Given the description of an element on the screen output the (x, y) to click on. 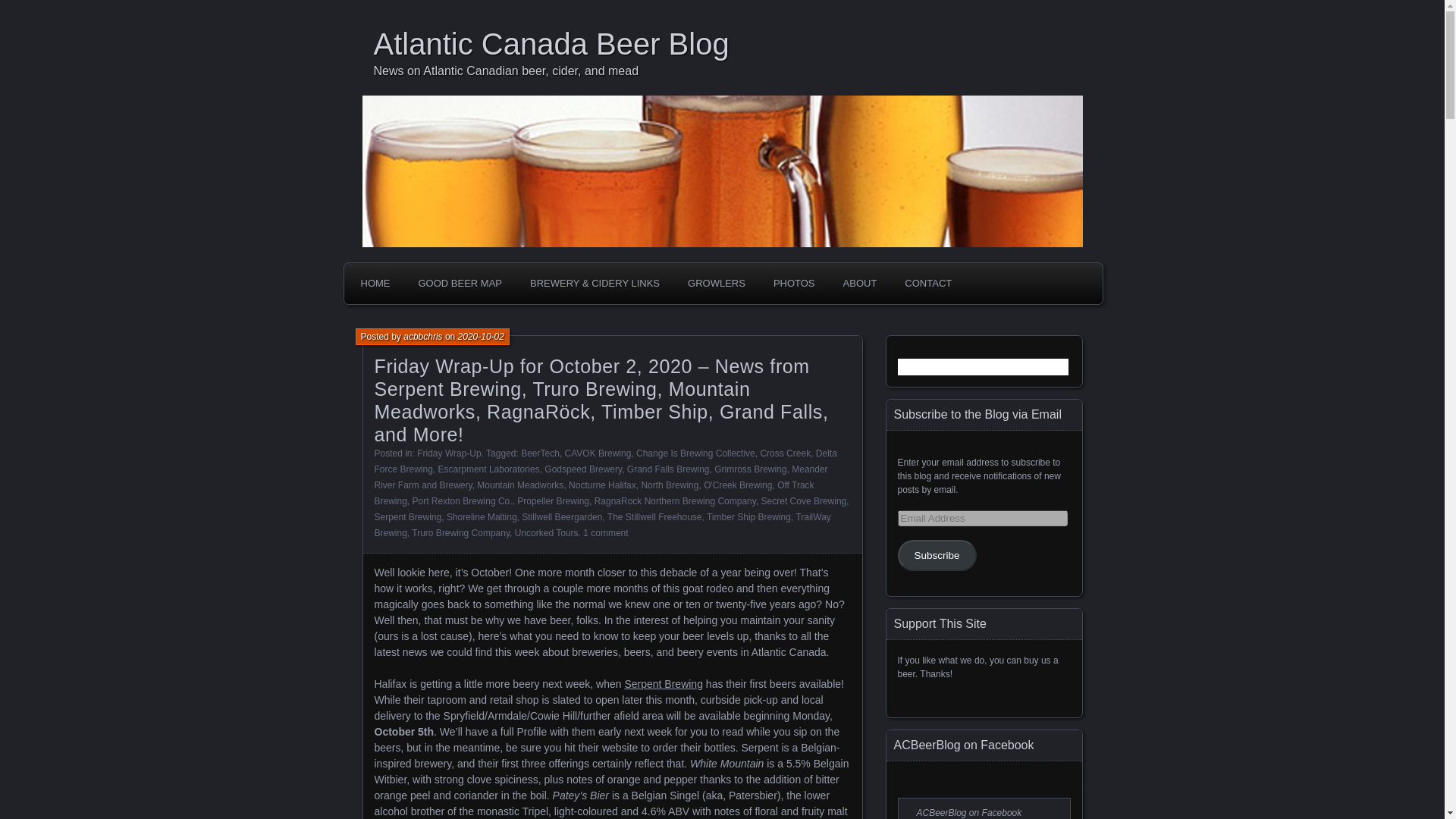
Shoreline Malting (481, 516)
Nocturne Halifax (602, 484)
ABOUT (859, 283)
The Stillwell Freehouse (654, 516)
Timber Ship Brewing (748, 516)
Grimross Brewing (750, 469)
Grand Falls Brewing (668, 469)
RagnaRock Northern Brewing Company (674, 501)
acbbchris (422, 336)
North Brewing (669, 484)
